Given the description of an element on the screen output the (x, y) to click on. 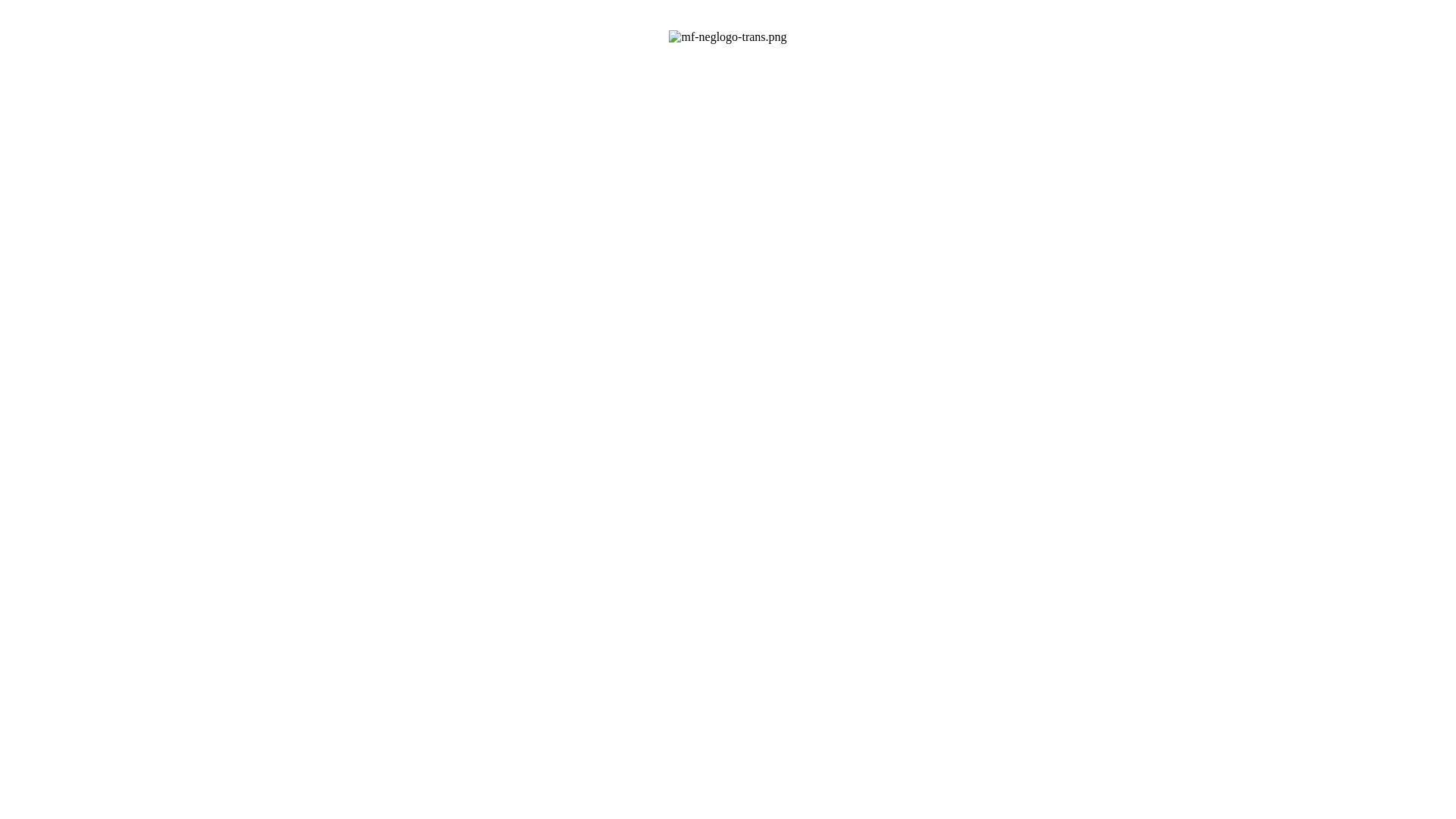
CLIENT LOGIN Element type: text (783, 191)
ENTER SITE Element type: text (661, 191)
TIME-LAPSE Element type: text (635, 133)
VIDEO Element type: text (836, 133)
PHOTOGRAPHY Element type: text (744, 133)
